Given the description of an element on the screen output the (x, y) to click on. 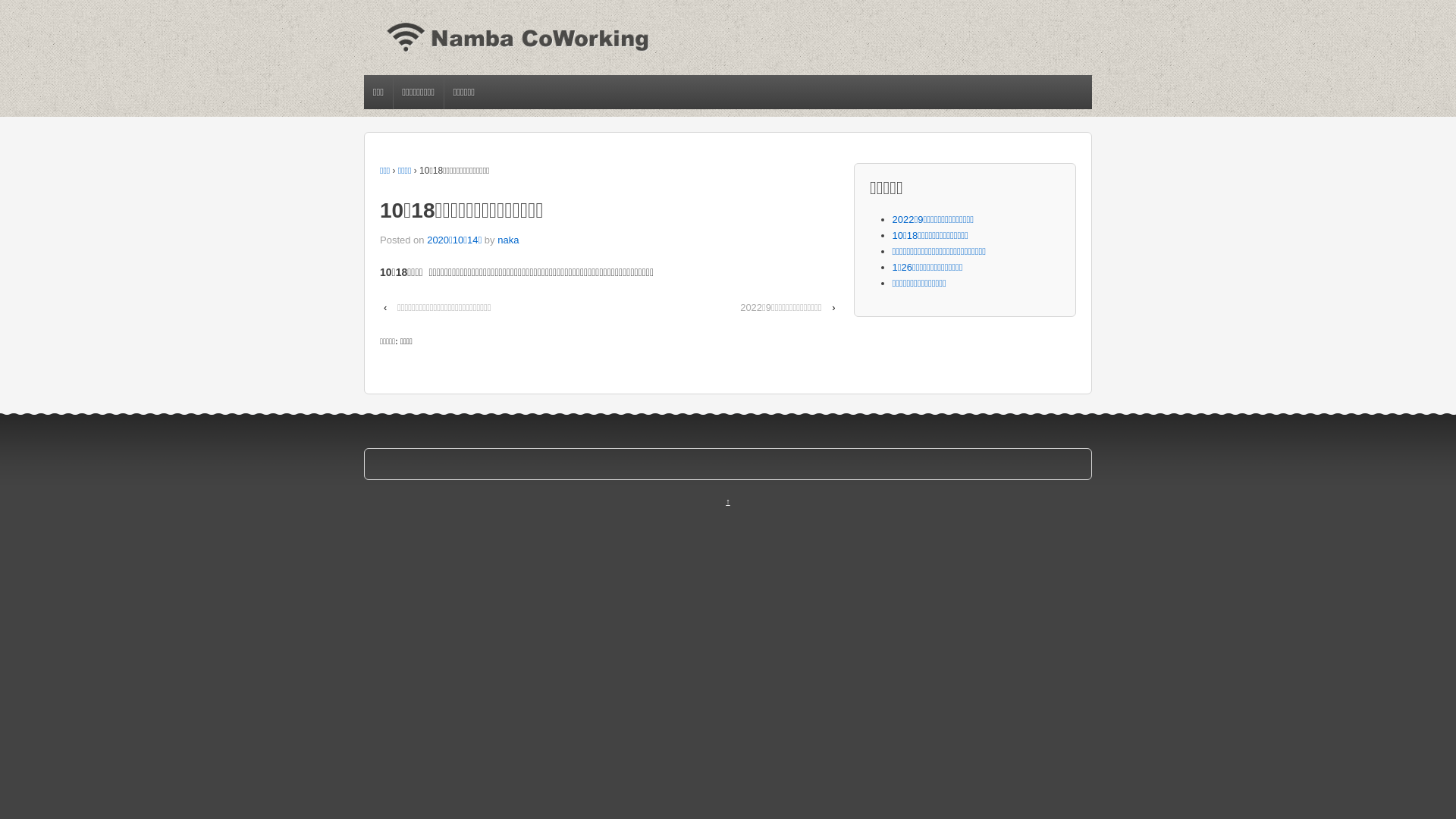
naka Element type: text (507, 239)
